Given the description of an element on the screen output the (x, y) to click on. 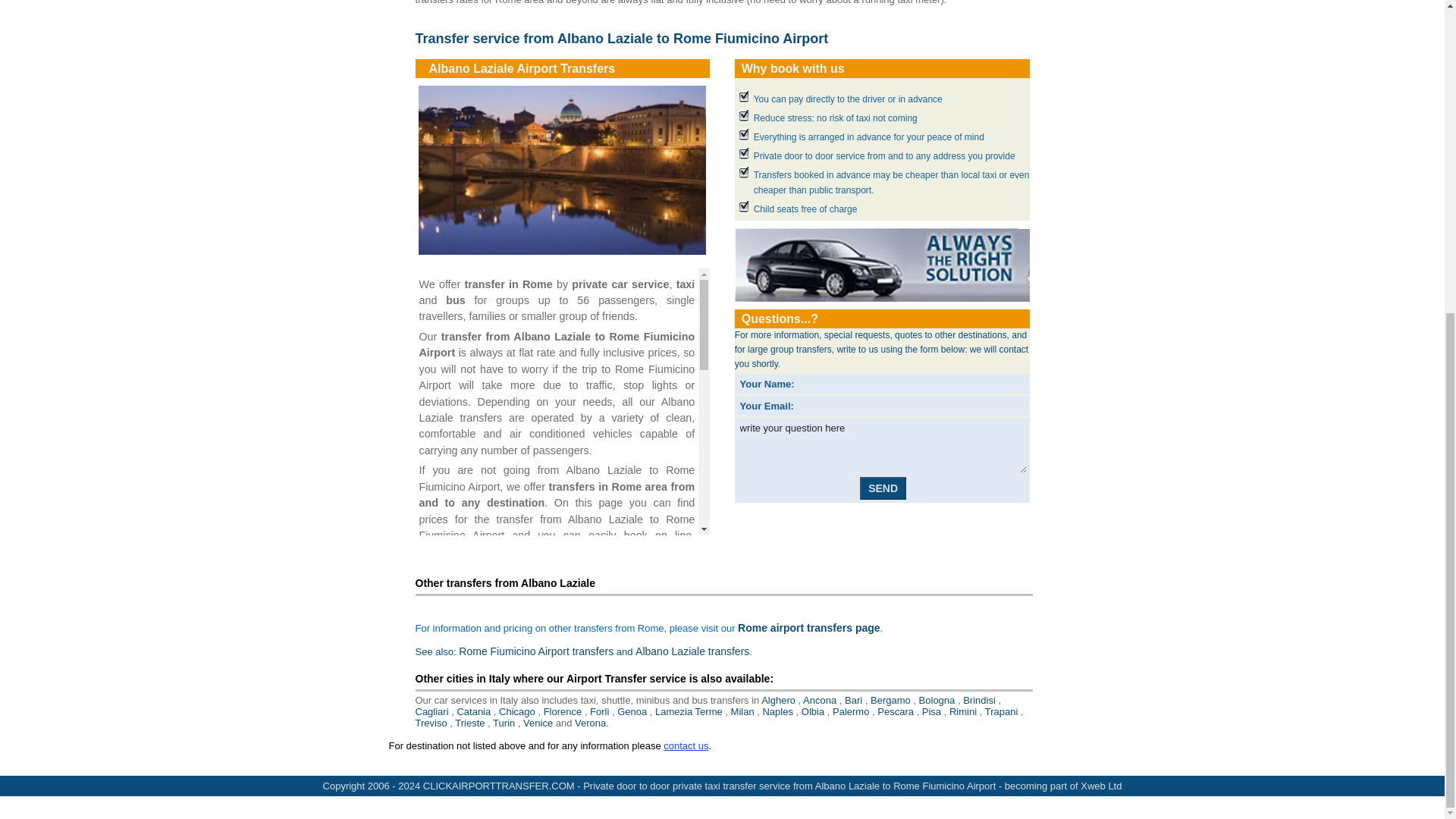
Albano Laziale transfers (691, 651)
Brindisi (978, 699)
Catania airport transfers (473, 711)
Ancona airport transfers (819, 699)
transfers from Rome Fiumicino Airport (535, 651)
Chicago airport transfers (517, 711)
Alghero (777, 699)
Bologna airport transfers (936, 699)
Bergamo (890, 699)
 SEND  (882, 487)
